Given the description of an element on the screen output the (x, y) to click on. 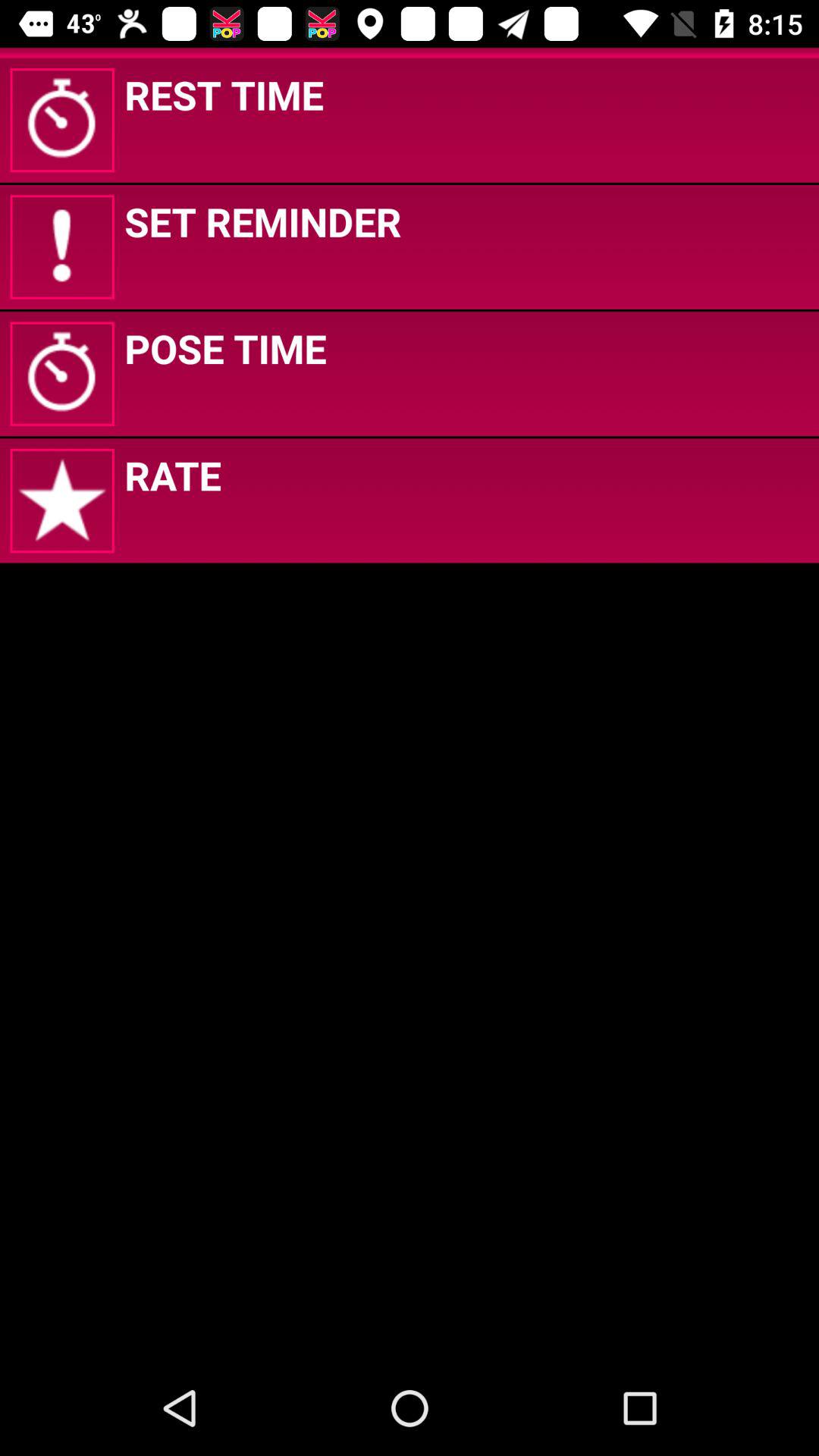
swipe until rate (172, 474)
